Given the description of an element on the screen output the (x, y) to click on. 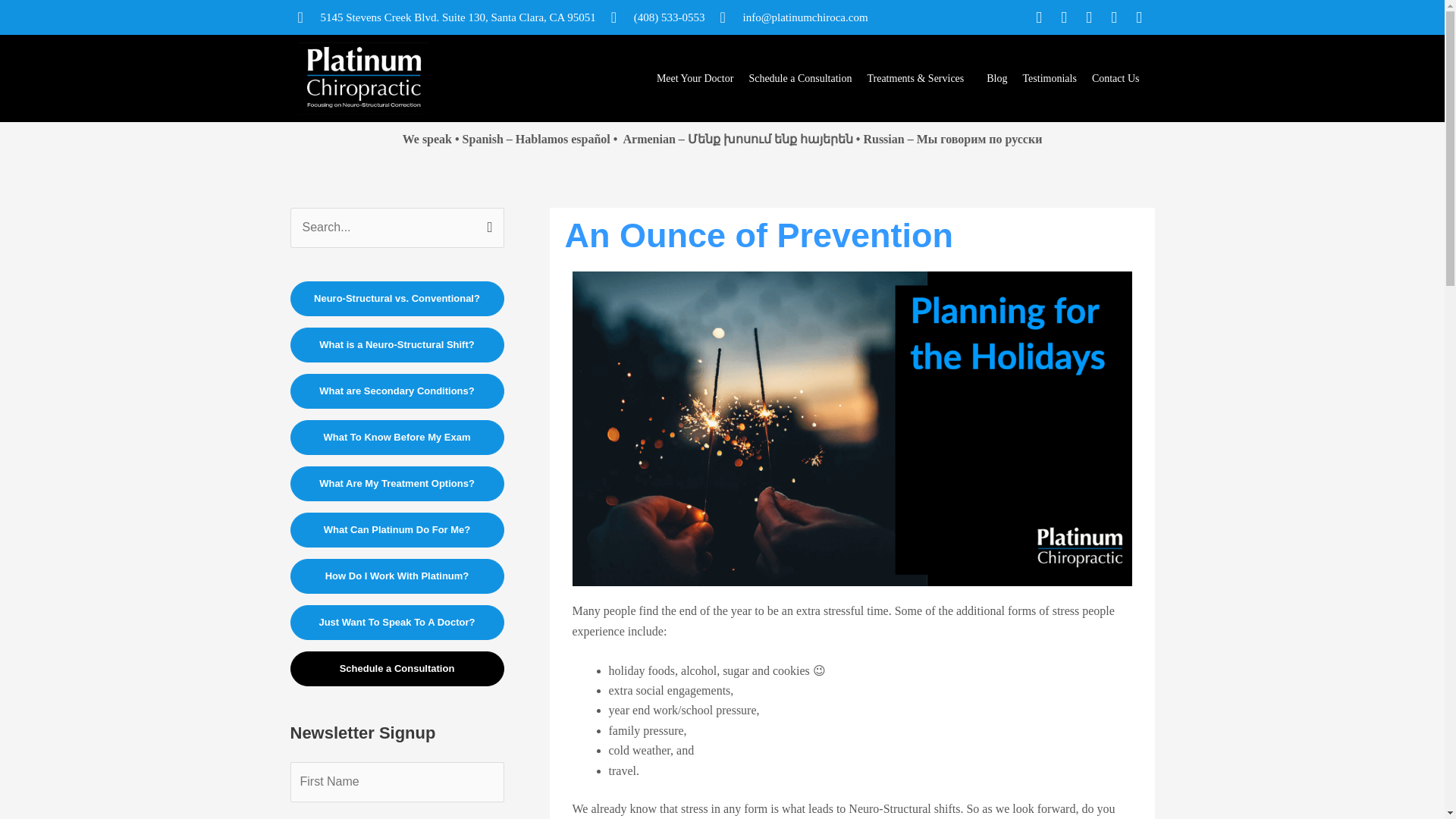
Facebook (1038, 17)
What Are My Treatment Options? (396, 483)
Testimonials (1049, 78)
What Can Platinum Do For Me? (396, 529)
Yelp (1139, 17)
5145 Stevens Creek Blvd. Suite 130, Santa Clara, CA 95051 (446, 17)
Contact Us (1115, 78)
Schedule a Consultation (396, 668)
Just Want To Speak To A Doctor? (396, 622)
What To Know Before My Exam (396, 437)
